Given the description of an element on the screen output the (x, y) to click on. 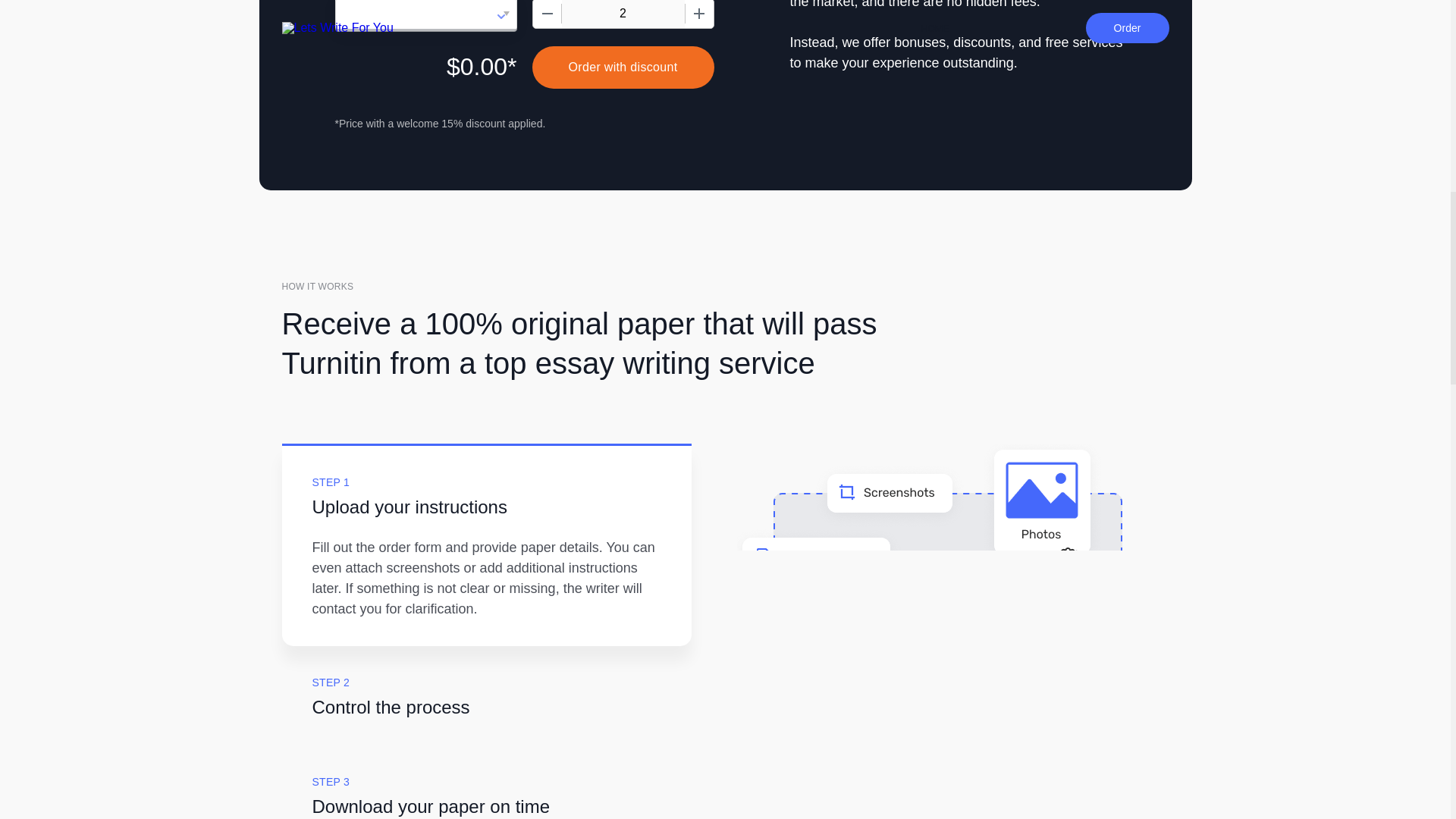
Increase (698, 13)
Order with discount (623, 66)
Decrease (546, 13)
2 (622, 13)
